Given the description of an element on the screen output the (x, y) to click on. 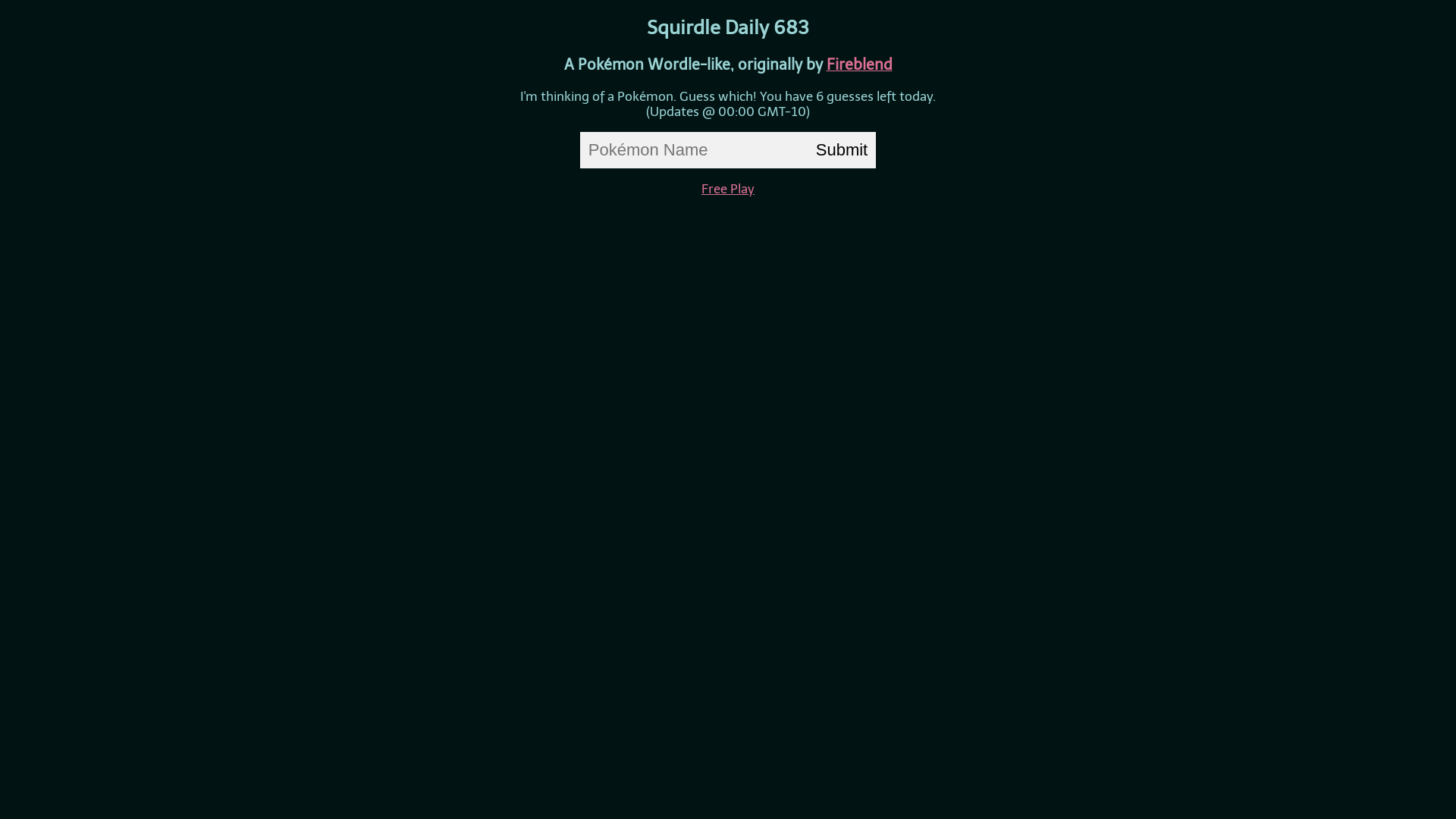
Submit Element type: text (841, 149)
Fireblend Element type: text (859, 64)
Free Play Element type: text (727, 188)
